Given the description of an element on the screen output the (x, y) to click on. 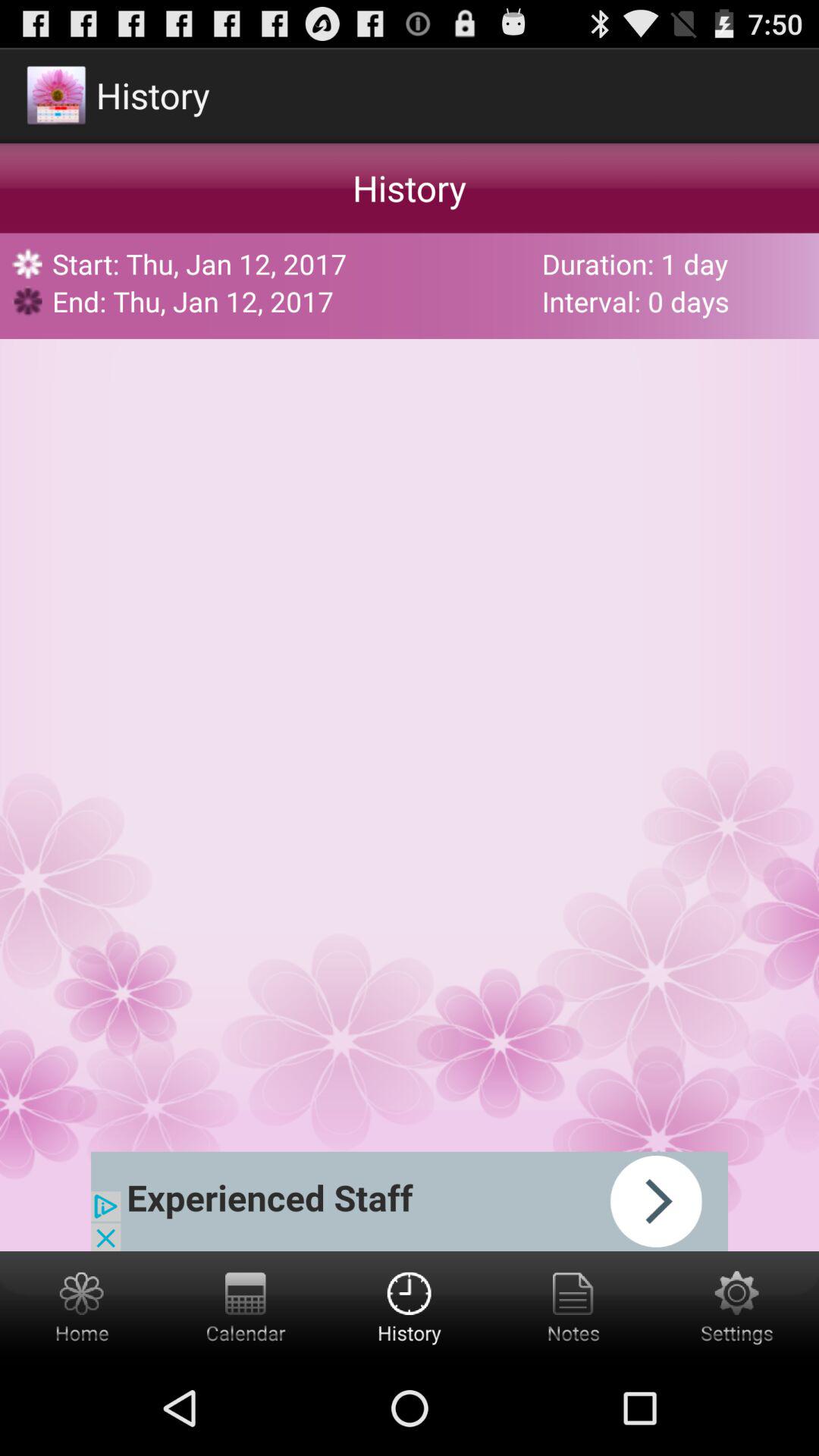
history (409, 1305)
